Given the description of an element on the screen output the (x, y) to click on. 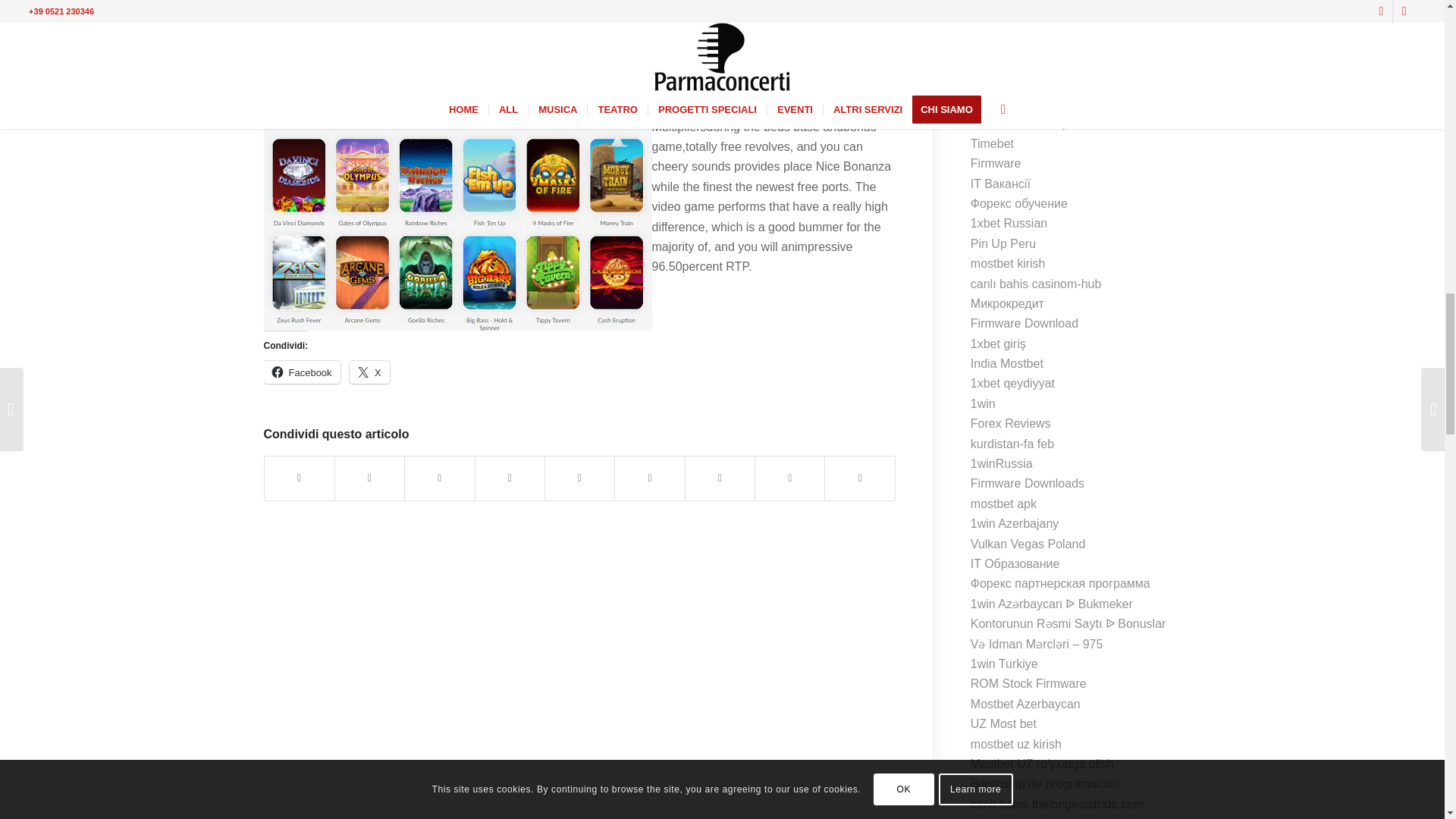
Fai clic per condividere su X (369, 372)
Facebook (301, 372)
X (369, 372)
Fai clic per condividere su Facebook (301, 372)
